Given the description of an element on the screen output the (x, y) to click on. 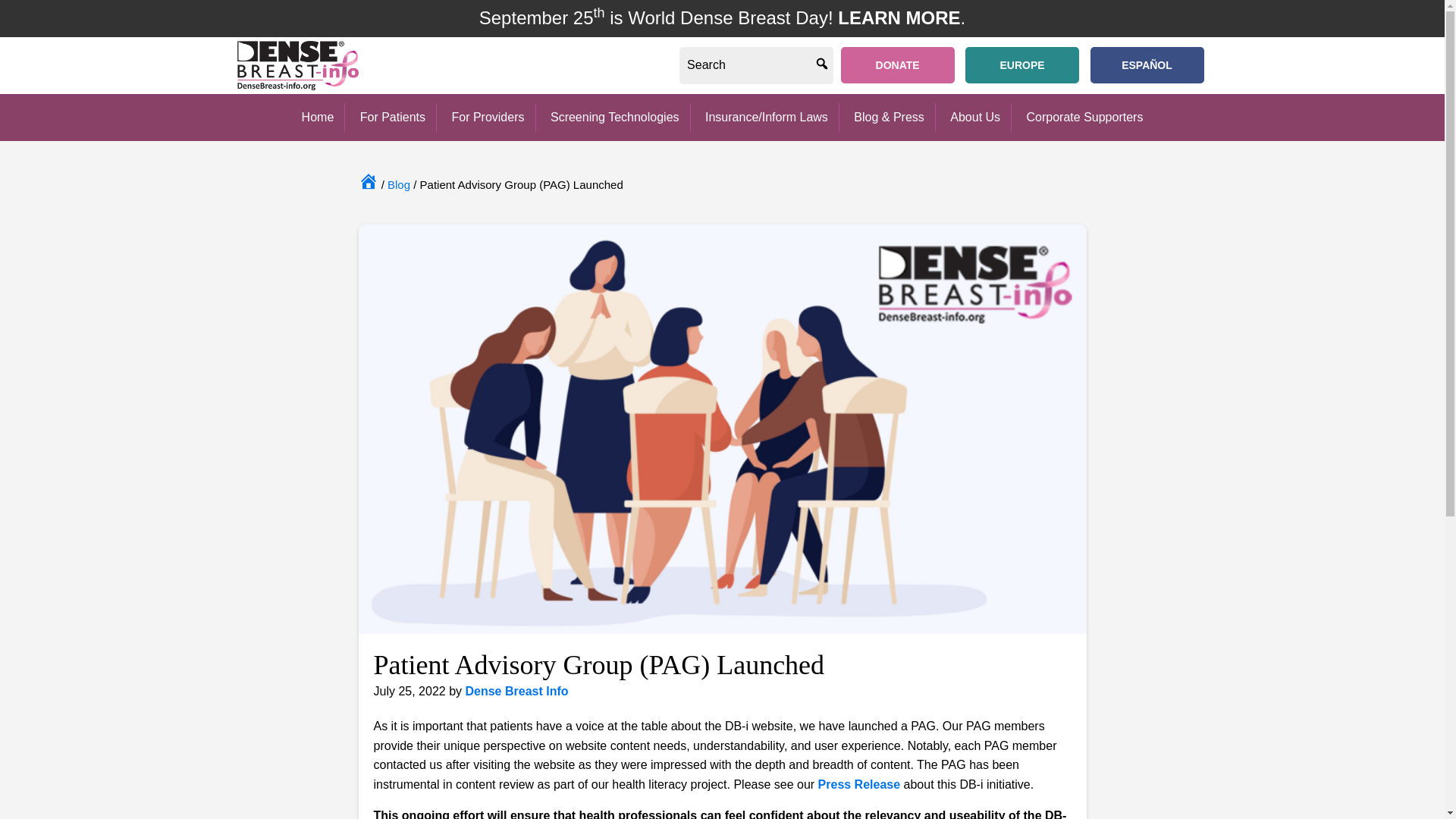
For Providers (487, 117)
Search (813, 65)
EUROPE (1021, 64)
For Patients (392, 117)
Home (317, 117)
Screening Technologies (614, 117)
Search (813, 65)
Search (813, 65)
DONATE (898, 64)
LEARN MORE (898, 17)
